Given the description of an element on the screen output the (x, y) to click on. 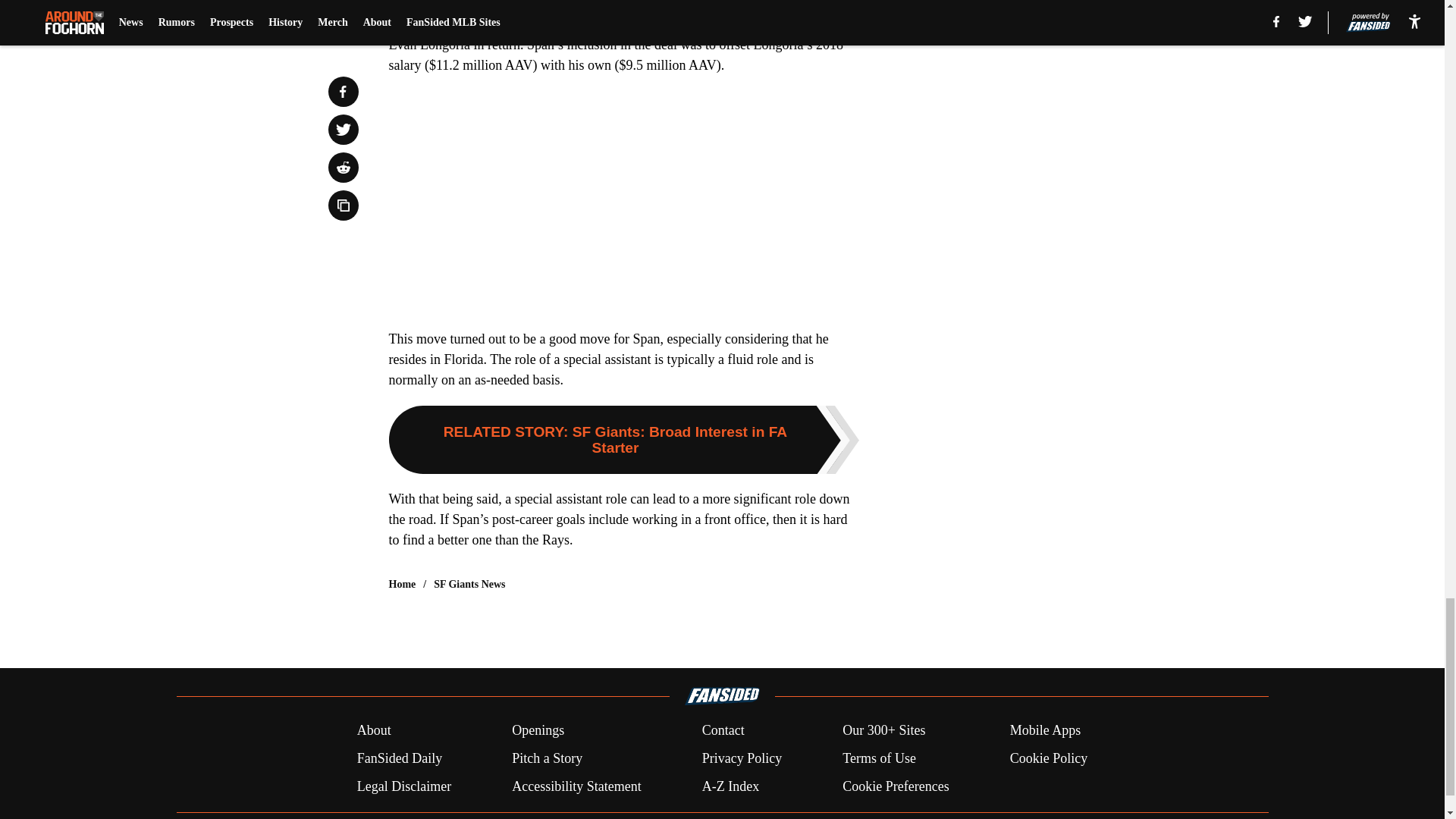
Cookie Policy (1048, 758)
Contact (722, 730)
Legal Disclaimer (403, 786)
SF Giants News (469, 584)
FanSided Daily (399, 758)
About (373, 730)
Privacy Policy (742, 758)
Pitch a Story (547, 758)
Mobile Apps (1045, 730)
Terms of Use (879, 758)
Accessibility Statement (576, 786)
RELATED STORY: SF Giants: Broad Interest in FA Starter (623, 439)
Home (401, 584)
Openings (538, 730)
